Given the description of an element on the screen output the (x, y) to click on. 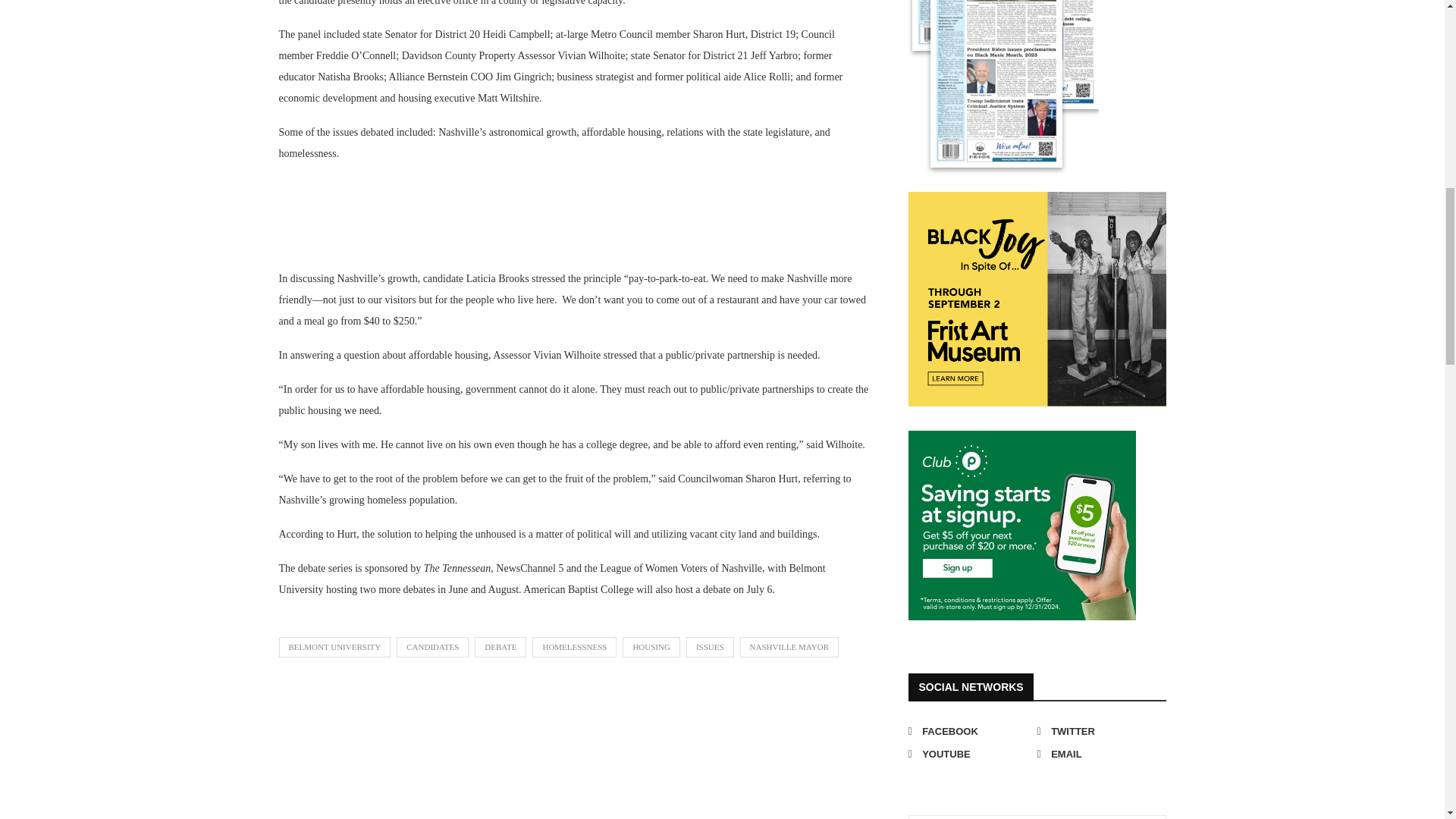
advertisement (1021, 524)
